Given the description of an element on the screen output the (x, y) to click on. 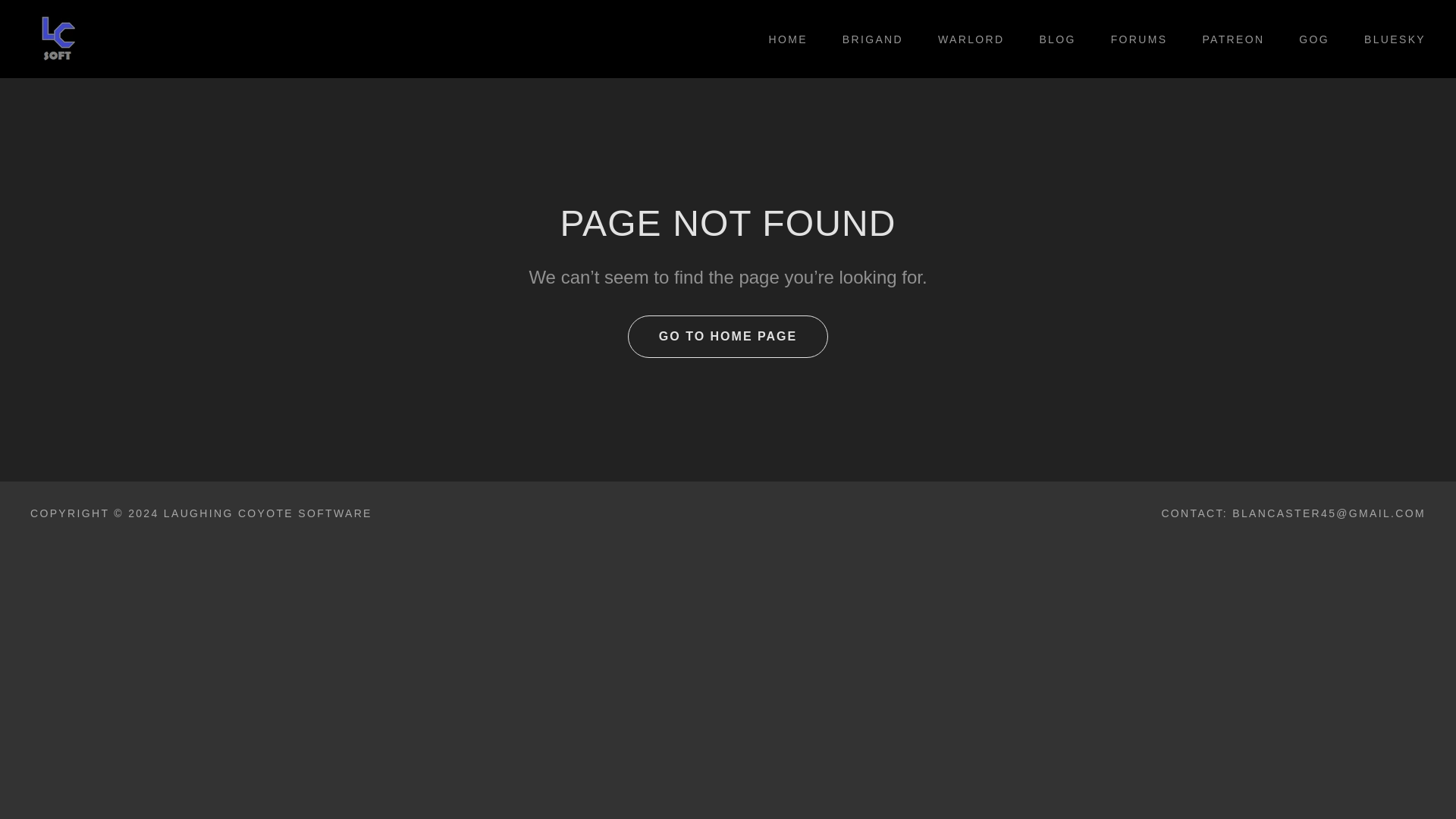
GOG (1308, 39)
FORUMS (1134, 39)
HOME (783, 39)
GO TO HOME PAGE (727, 336)
BLOG (1051, 39)
WARLORD (966, 39)
BRIGAND (867, 39)
PATREON (1227, 39)
Laughing Coyote Software (57, 37)
BLUESKY (1389, 39)
